Given the description of an element on the screen output the (x, y) to click on. 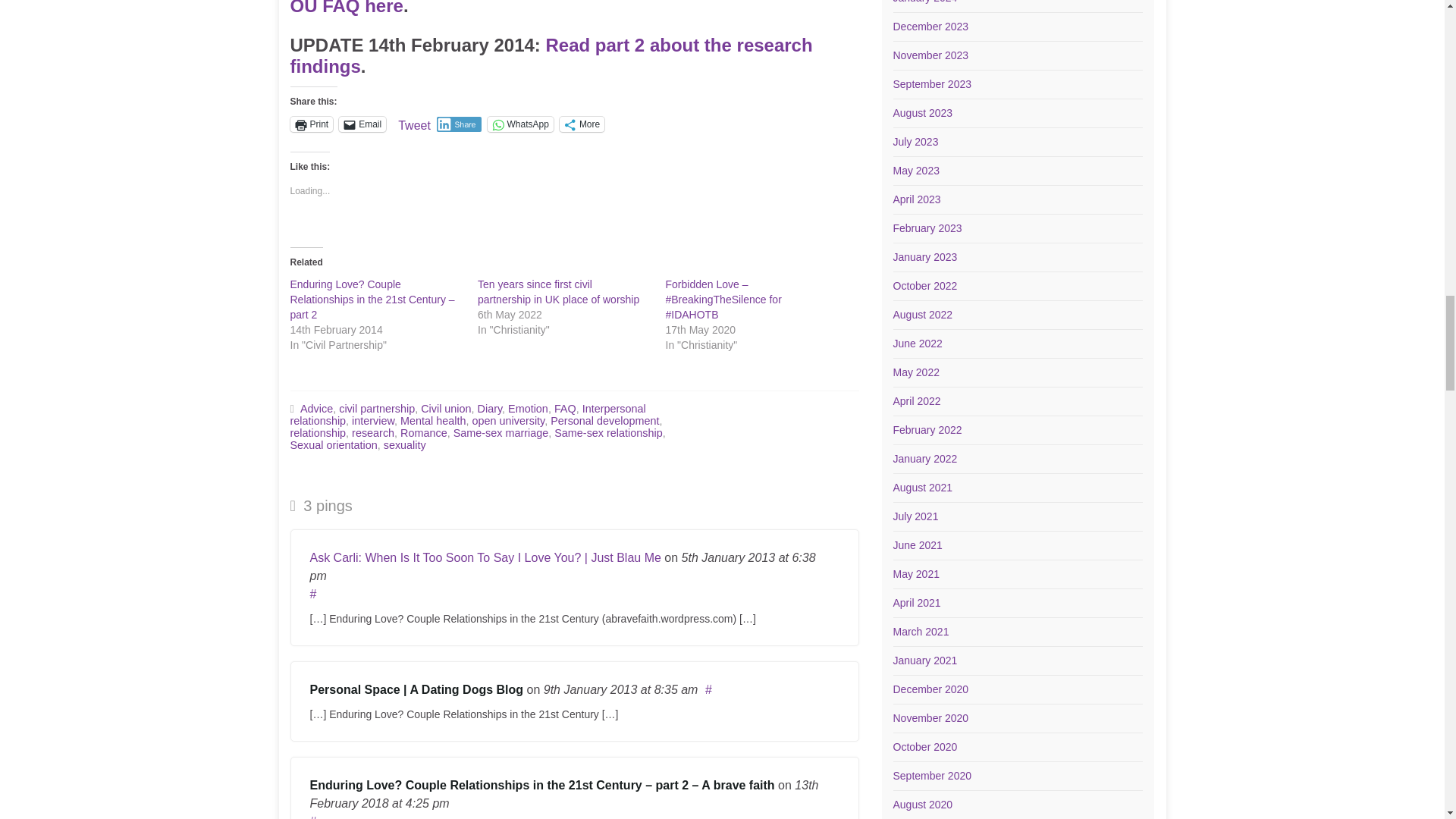
Tweet (413, 123)
Advice (316, 408)
Click to print (311, 124)
Click to email a link to a friend (362, 124)
Read part 2 about the research findings (550, 55)
WhatsApp (520, 124)
Email (362, 124)
Share (458, 124)
More (581, 124)
Click to share on WhatsApp (520, 124)
Print (311, 124)
check out the OU FAQ here (558, 7)
civil partnership (376, 408)
